Given the description of an element on the screen output the (x, y) to click on. 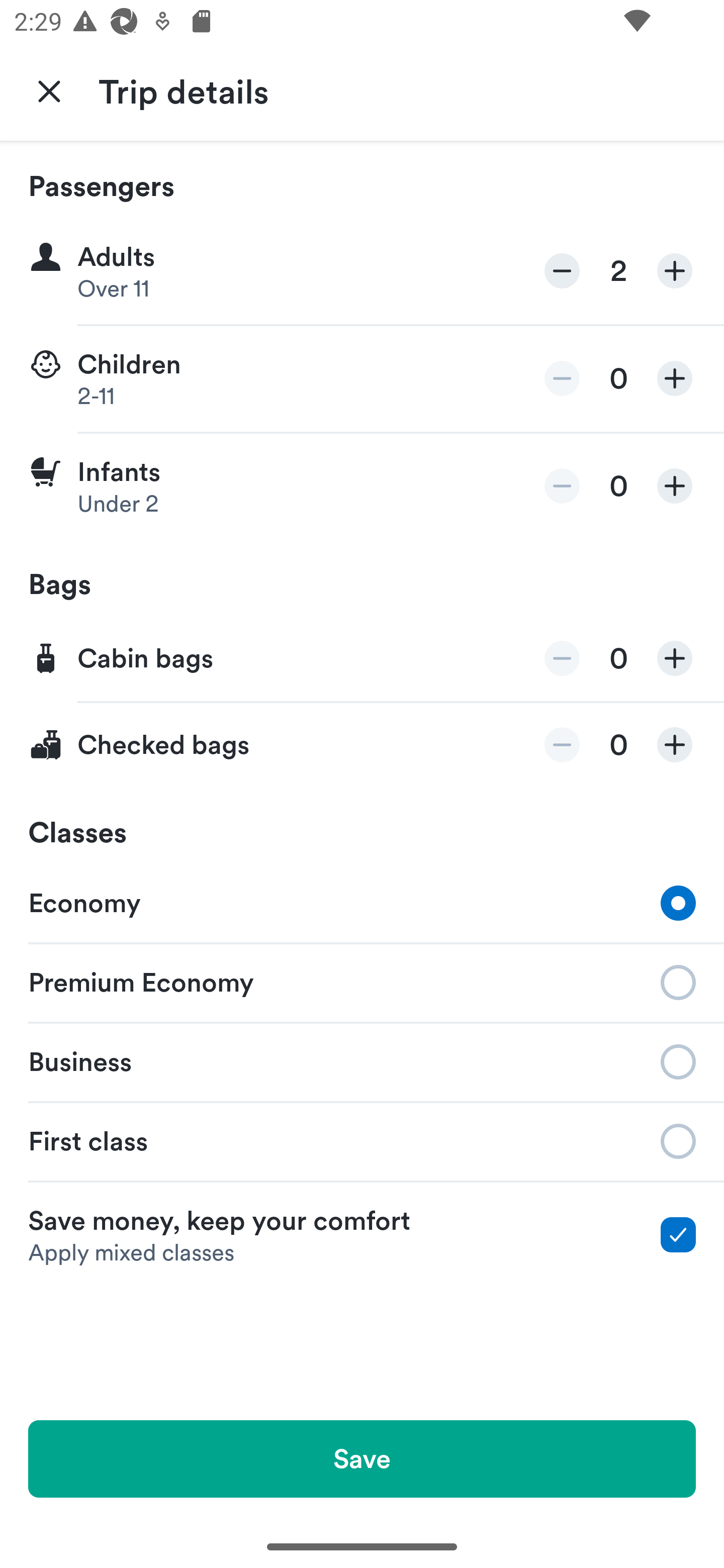
Navigate up (49, 90)
Remove 2 Add Adults Over 11 (362, 271)
Remove (561, 270)
Add (674, 270)
Remove 0 Add Children 2-11 (362, 379)
Remove (561, 377)
Add (674, 377)
Remove 0 Add Infants Under 2 (362, 485)
Remove (561, 485)
Add (674, 485)
Remove 0 Add Cabin bags (362, 659)
Remove (561, 658)
Add (674, 658)
Remove 0 Add Checked bags (362, 744)
Remove (561, 744)
Add (674, 744)
Premium Economy (362, 980)
Business (362, 1060)
First class (362, 1141)
Save (361, 1458)
